Given the description of an element on the screen output the (x, y) to click on. 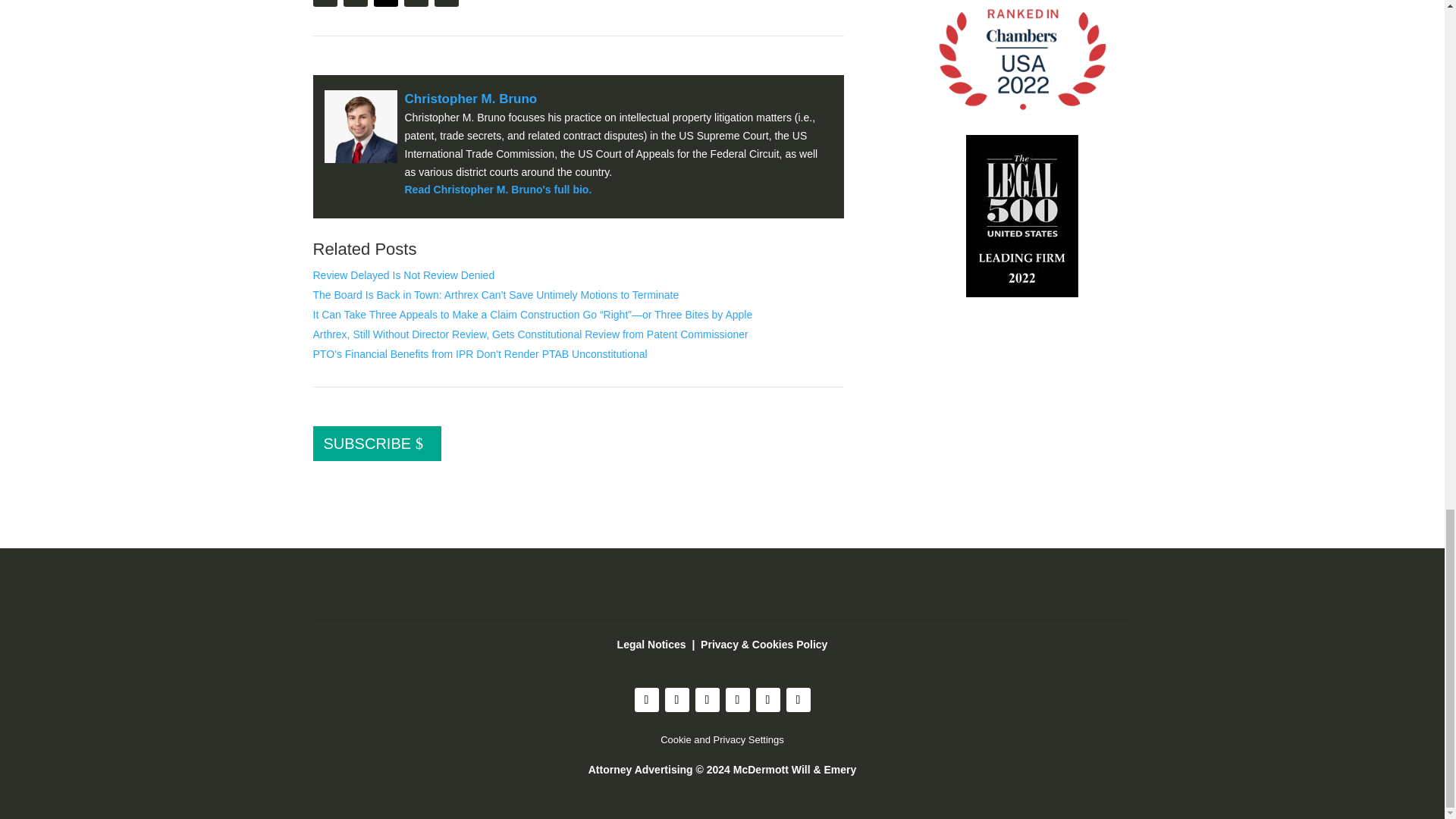
E-Mail (354, 3)
Follow on X (384, 3)
Print (324, 3)
Share on LinkedIn (445, 3)
Share on Facebook (415, 3)
